Given the description of an element on the screen output the (x, y) to click on. 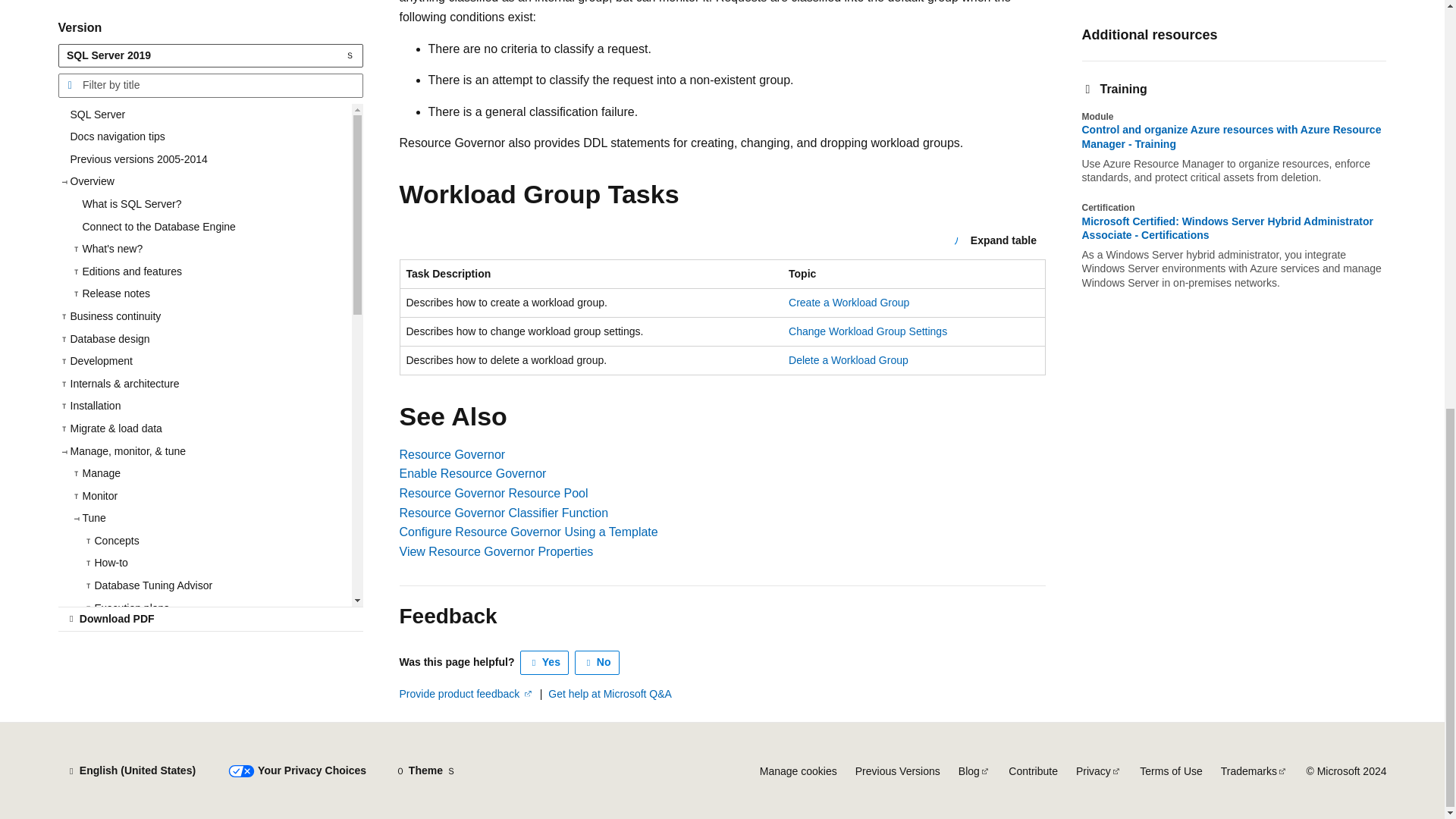
This article is helpful (544, 662)
This article is not helpful (597, 662)
Theme (425, 770)
